Given the description of an element on the screen output the (x, y) to click on. 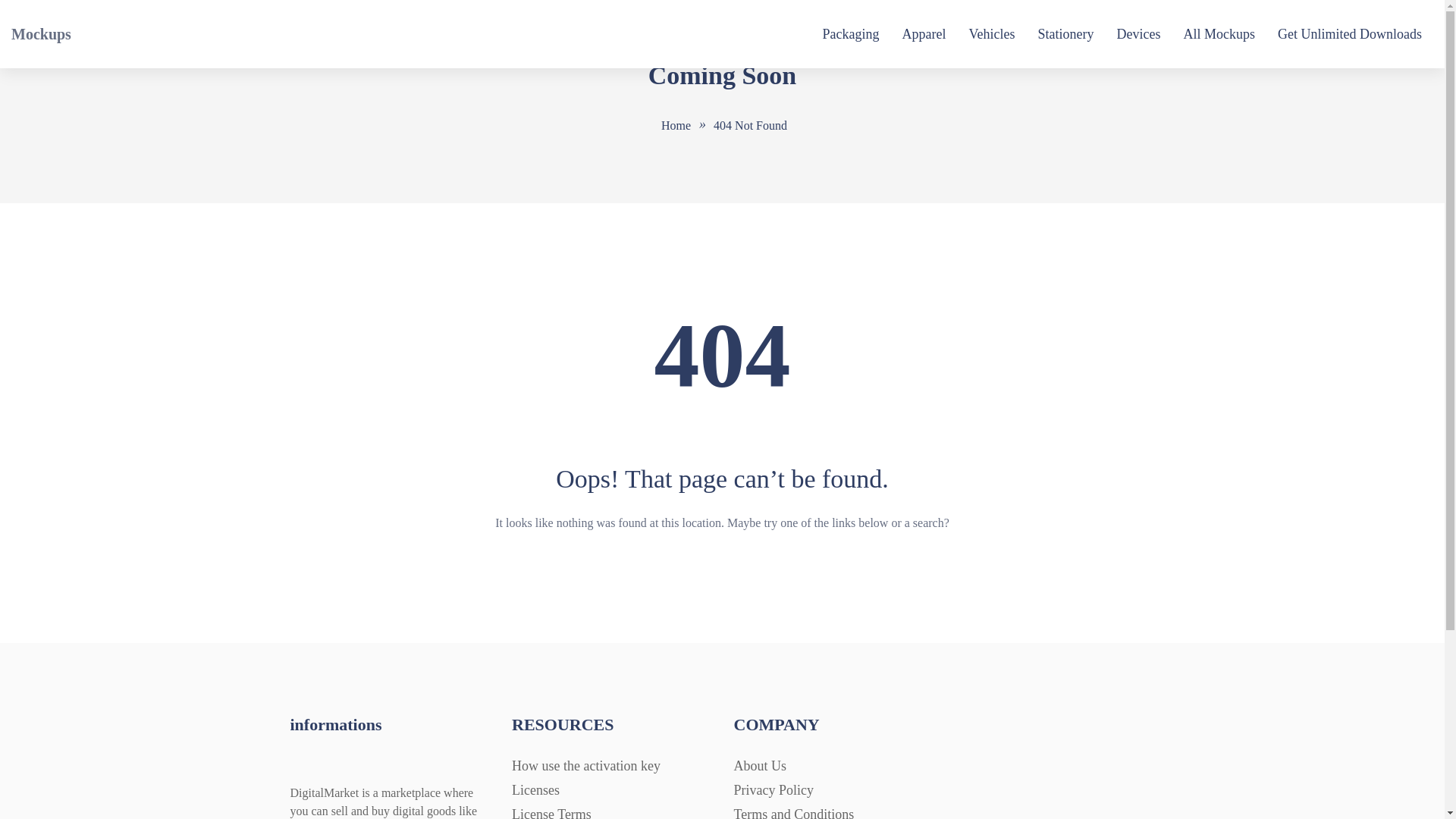
Stationery (1066, 33)
Mockups (41, 33)
Mockups (41, 33)
How use the activation key (586, 765)
License Terms (551, 812)
Licenses (535, 789)
Apparel (924, 33)
All Mockups (1218, 33)
About Us (760, 765)
Terms and Conditions (793, 812)
